Given the description of an element on the screen output the (x, y) to click on. 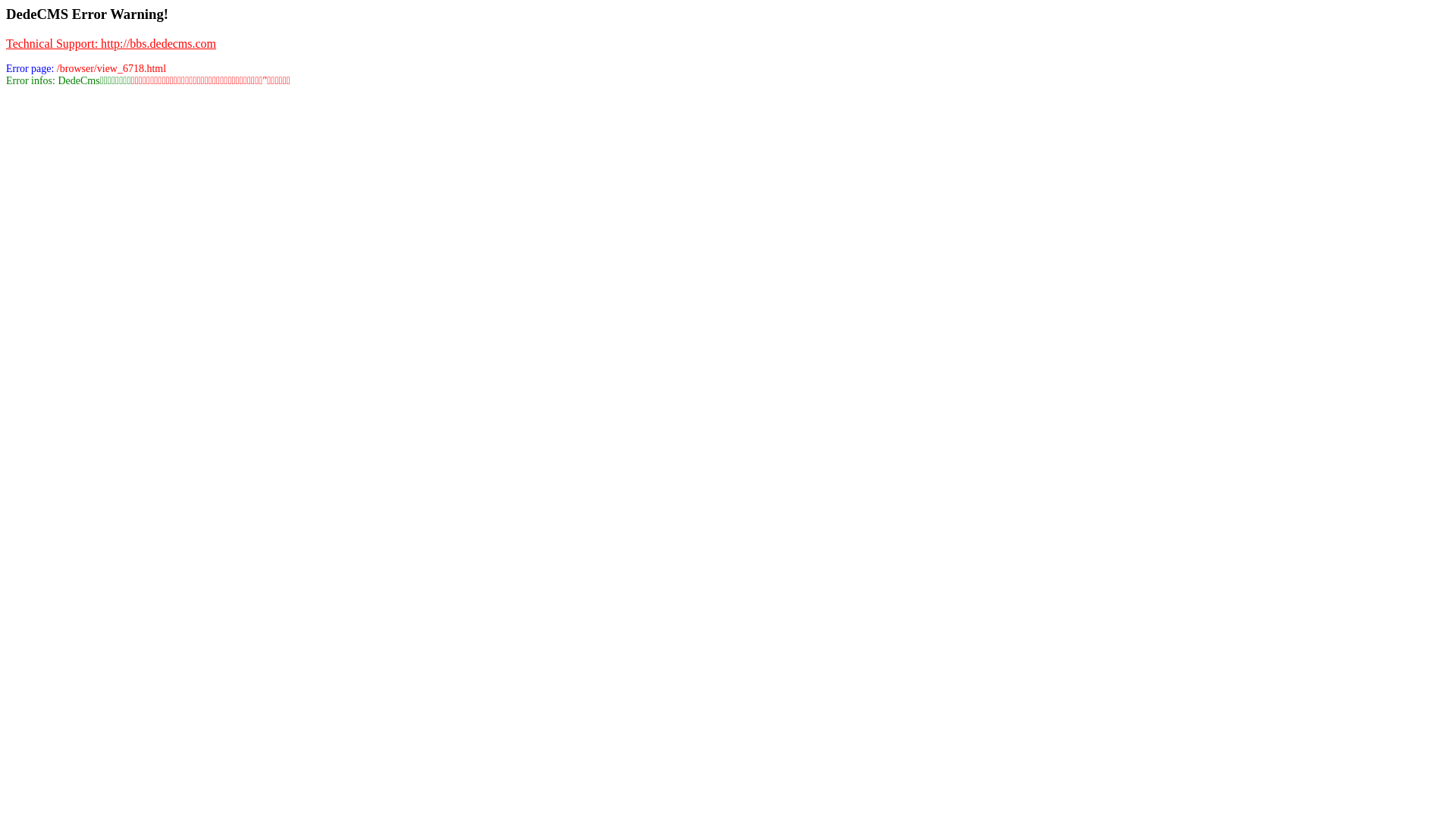
Technical Support: http://bbs.dedecms.com Element type: text (111, 43)
